Given the description of an element on the screen output the (x, y) to click on. 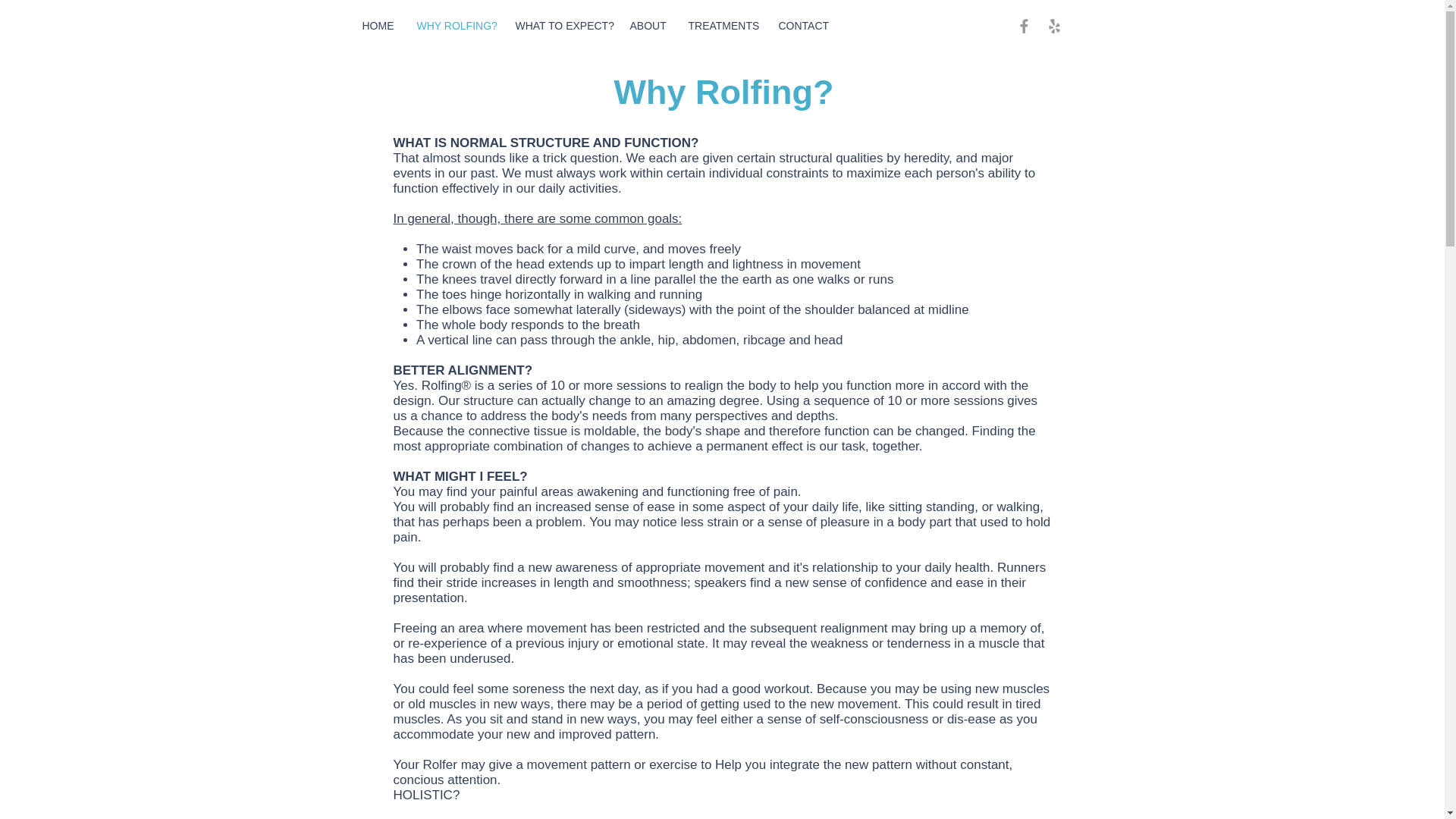
HOME (377, 25)
WHAT TO EXPECT? (560, 25)
CONTACT (802, 25)
WHY ROLFING? (453, 25)
TREATMENTS (722, 25)
ABOUT (647, 25)
